Given the description of an element on the screen output the (x, y) to click on. 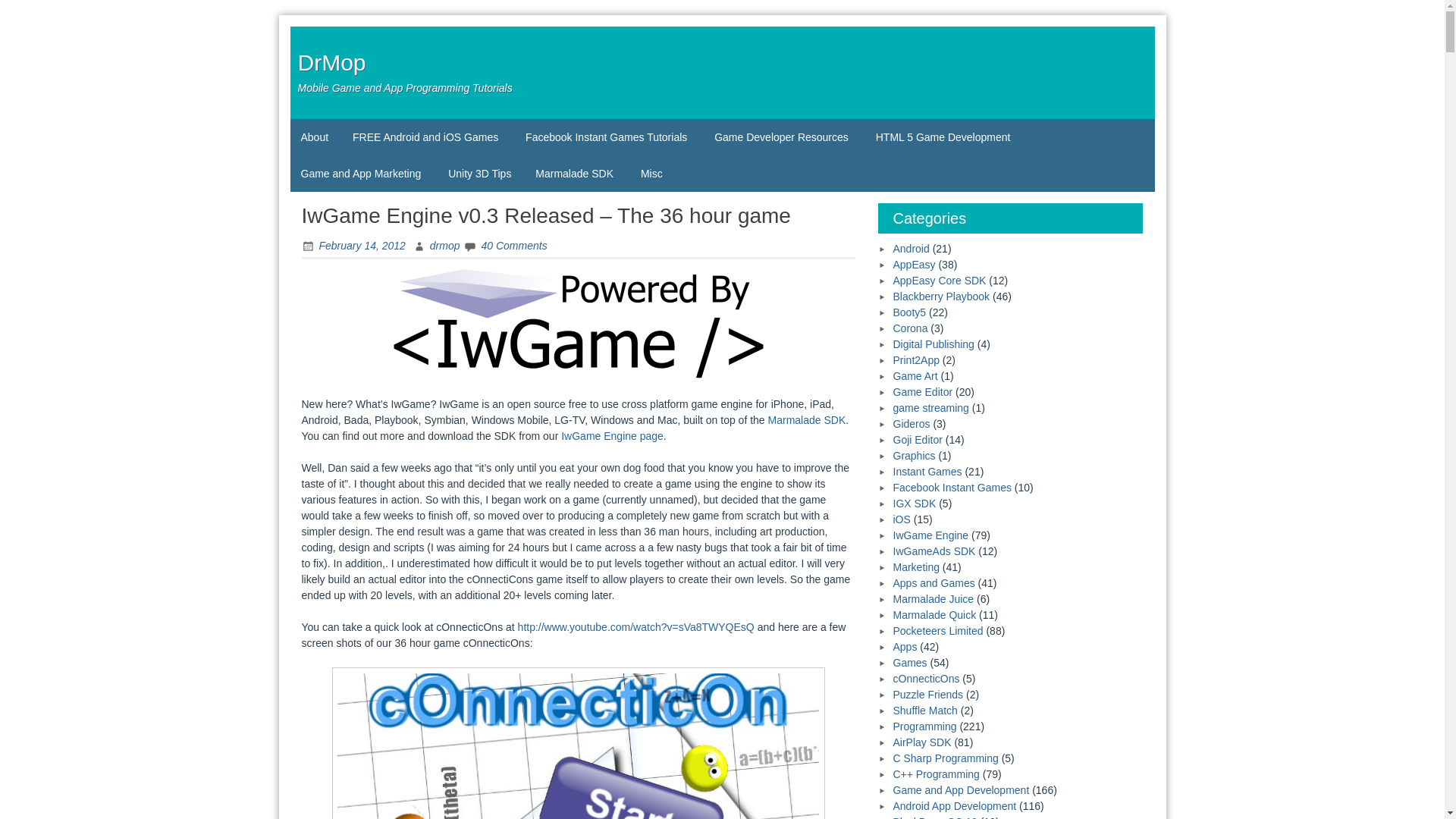
IwGame Engine (611, 435)
Game Developer Resources (782, 136)
DrMop (331, 62)
HTML 5 Game Development (944, 136)
Marmalade SDK (806, 419)
IwGameLogo2 (577, 323)
About (314, 136)
Facebook Instant Games Tutorials (607, 136)
FREE Android and iOS Games (427, 136)
